Given the description of an element on the screen output the (x, y) to click on. 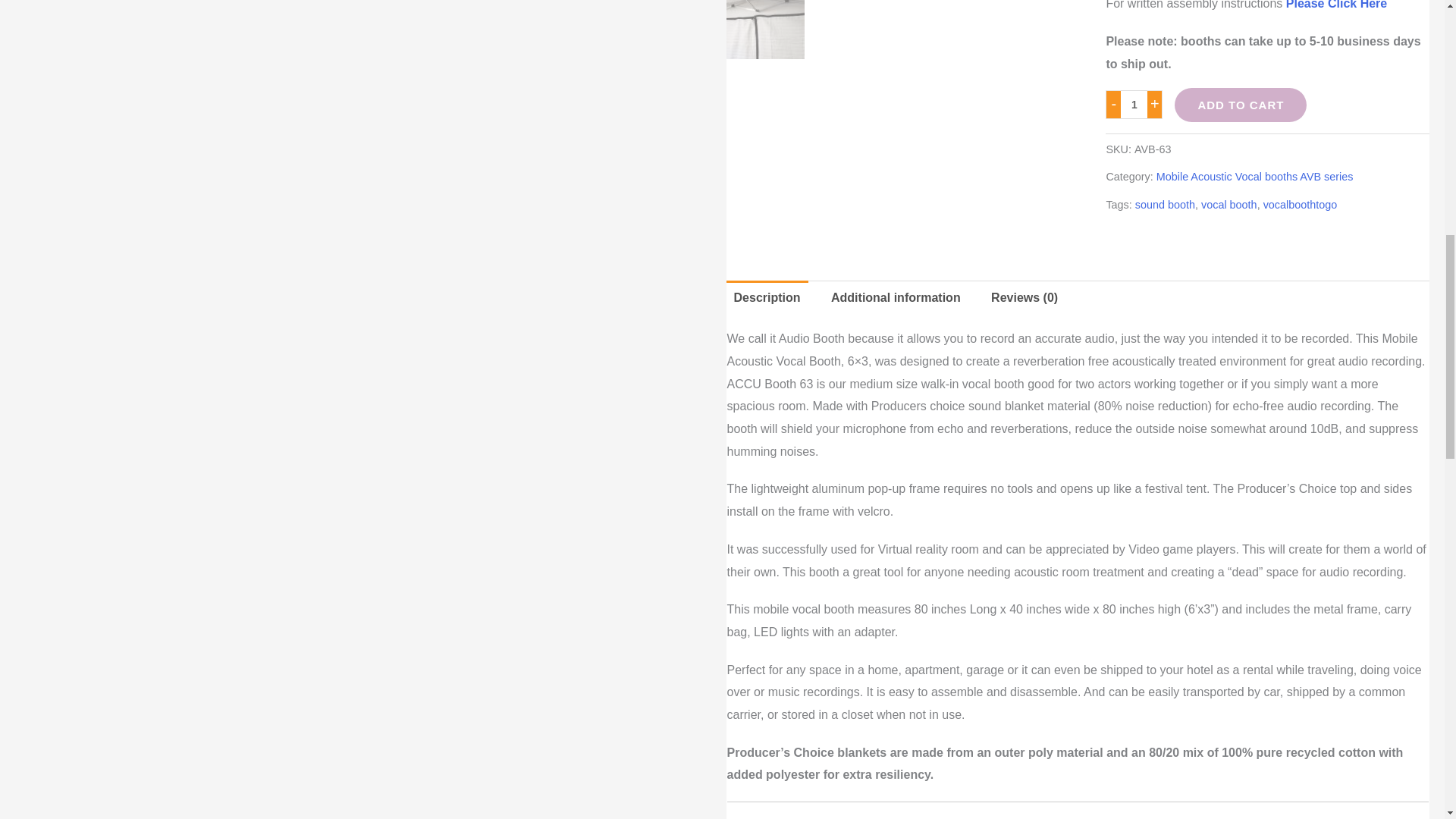
1 (1133, 104)
